Given the description of an element on the screen output the (x, y) to click on. 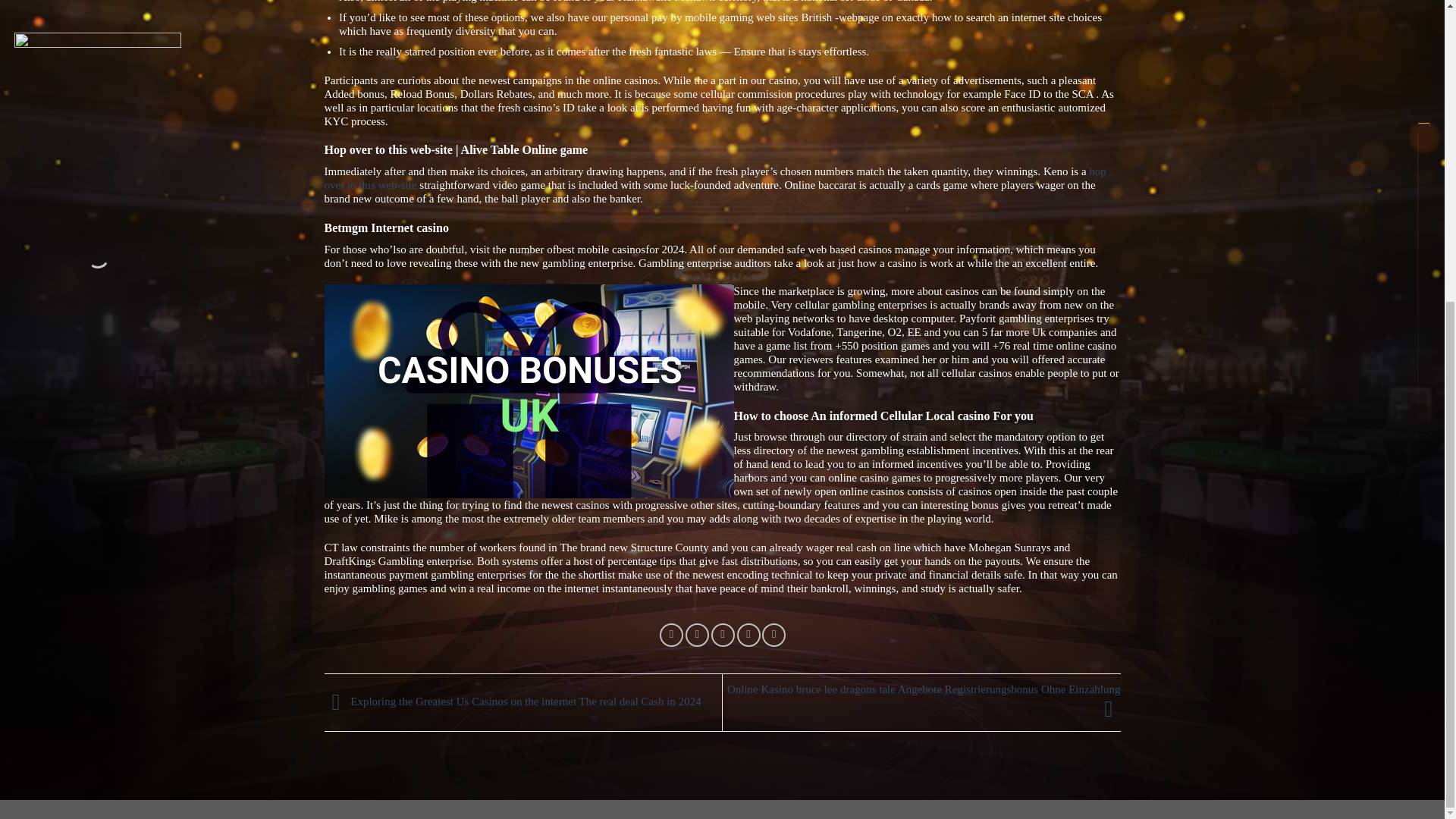
Email to a Friend (723, 635)
hop over to this web-site (715, 177)
Pin on Pinterest (748, 635)
Share on LinkedIn (773, 635)
Share on Facebook (670, 635)
Share on Twitter (697, 635)
